Given the description of an element on the screen output the (x, y) to click on. 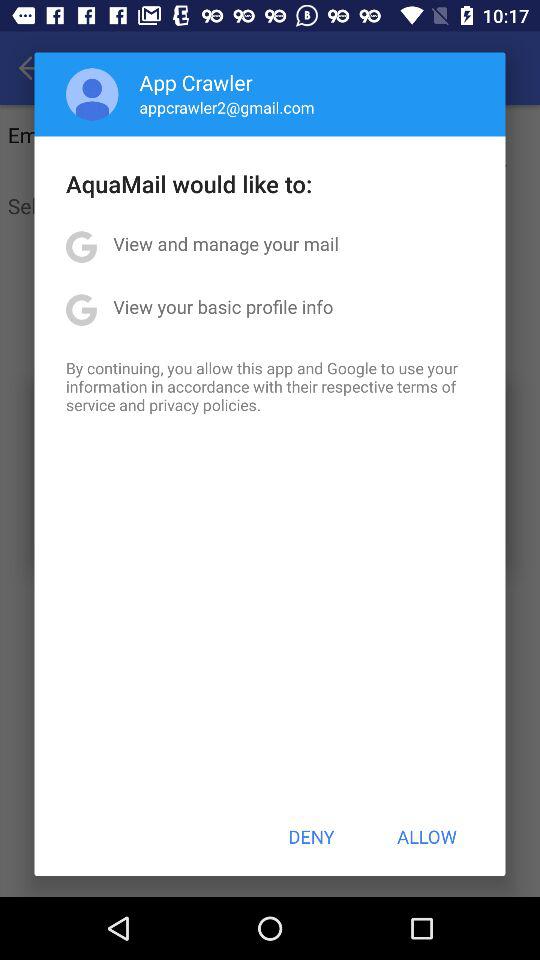
choose icon above aquamail would like item (226, 107)
